Given the description of an element on the screen output the (x, y) to click on. 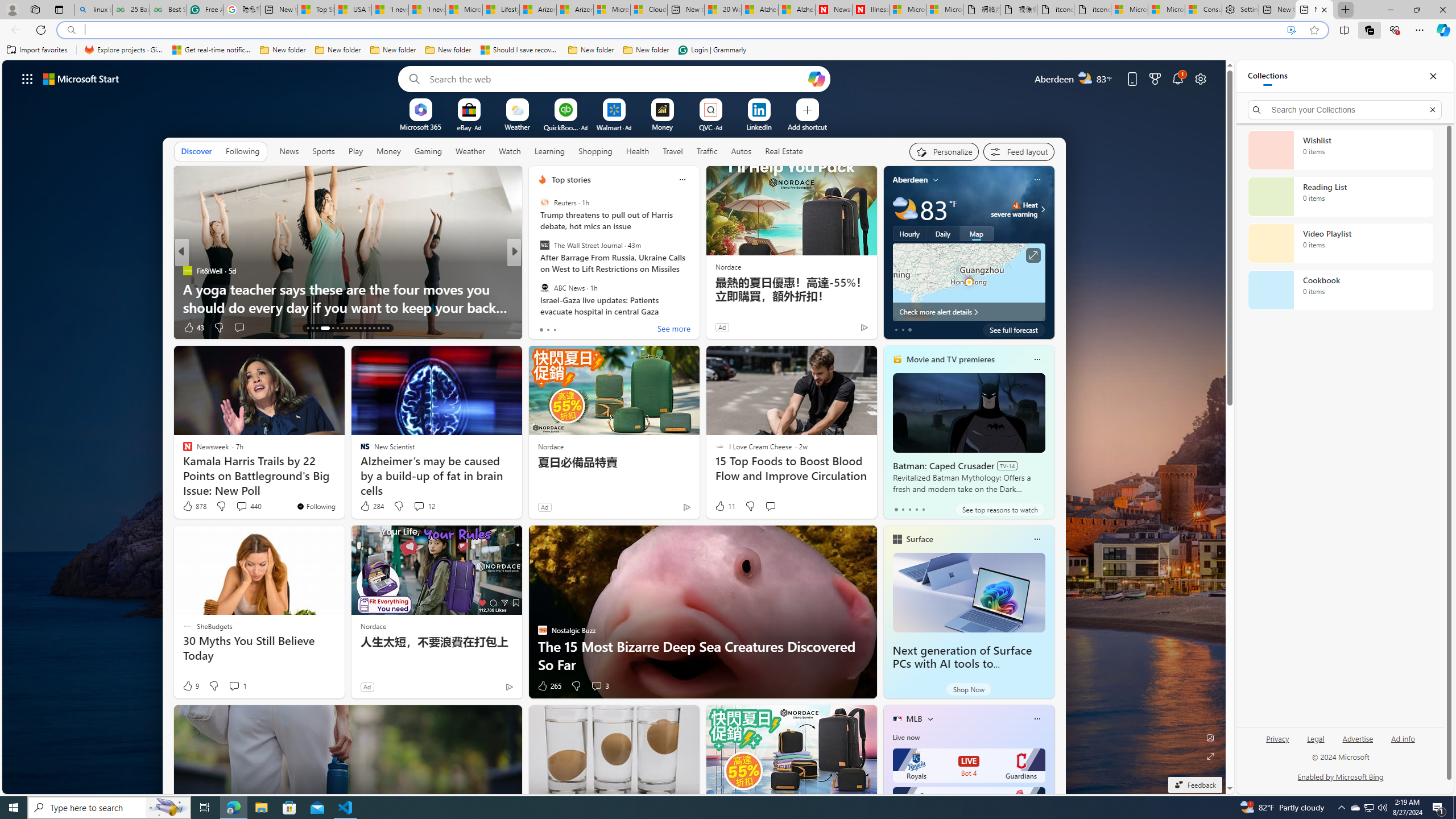
Heat - Severe Heat severe warning (1014, 208)
Check more alert details (968, 311)
View comments 1 Comment (237, 685)
56 Like (543, 327)
Trustworthy Repairs (697, 307)
Royals LIVE Bot 4 Guardians (968, 765)
AutomationID: tab-23 (360, 328)
Page settings (1200, 78)
Edit Background (1210, 737)
Class: icon-img (1037, 718)
Health (637, 151)
